Given the description of an element on the screen output the (x, y) to click on. 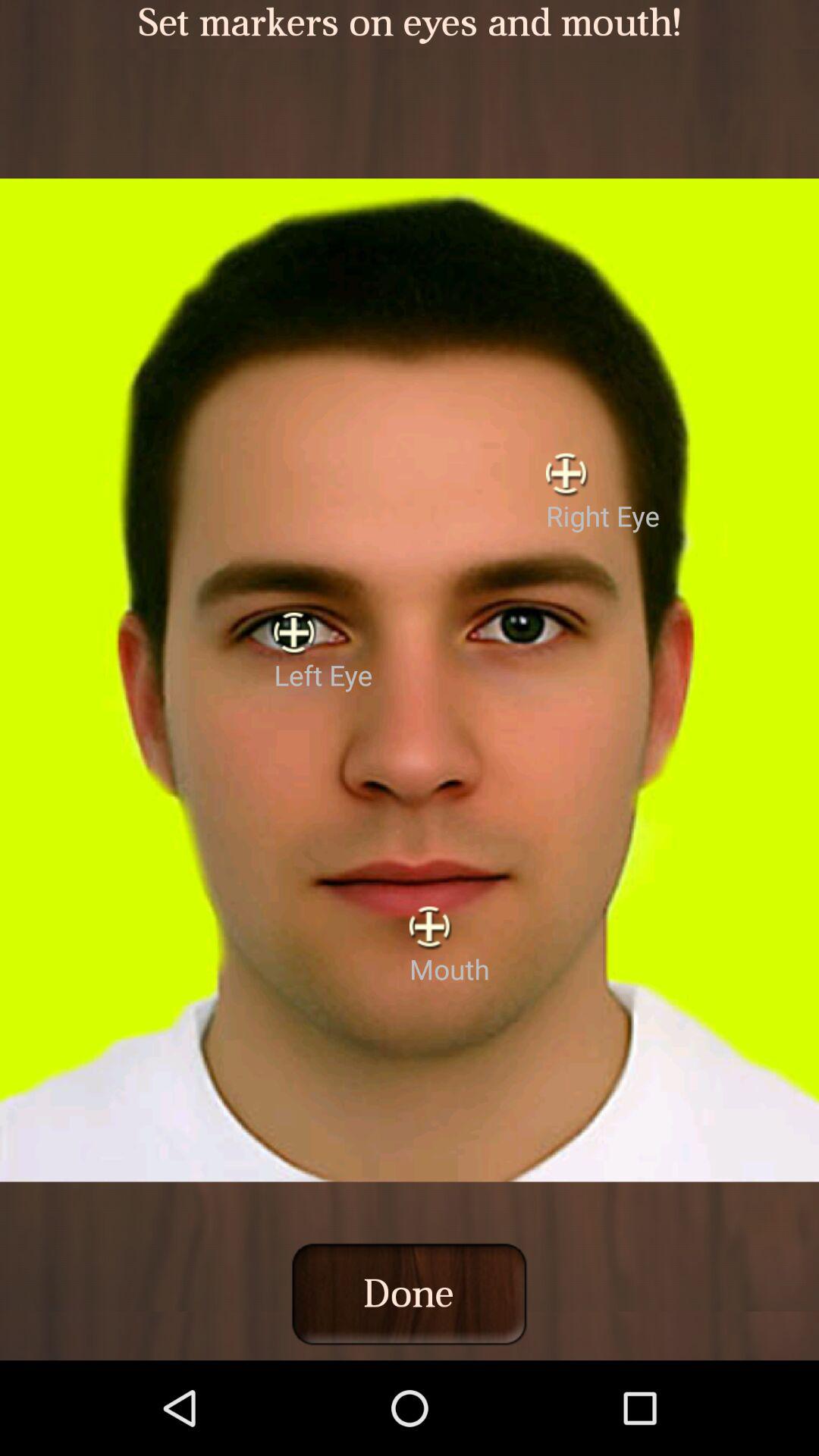
choose the done at the bottom (409, 1293)
